Given the description of an element on the screen output the (x, y) to click on. 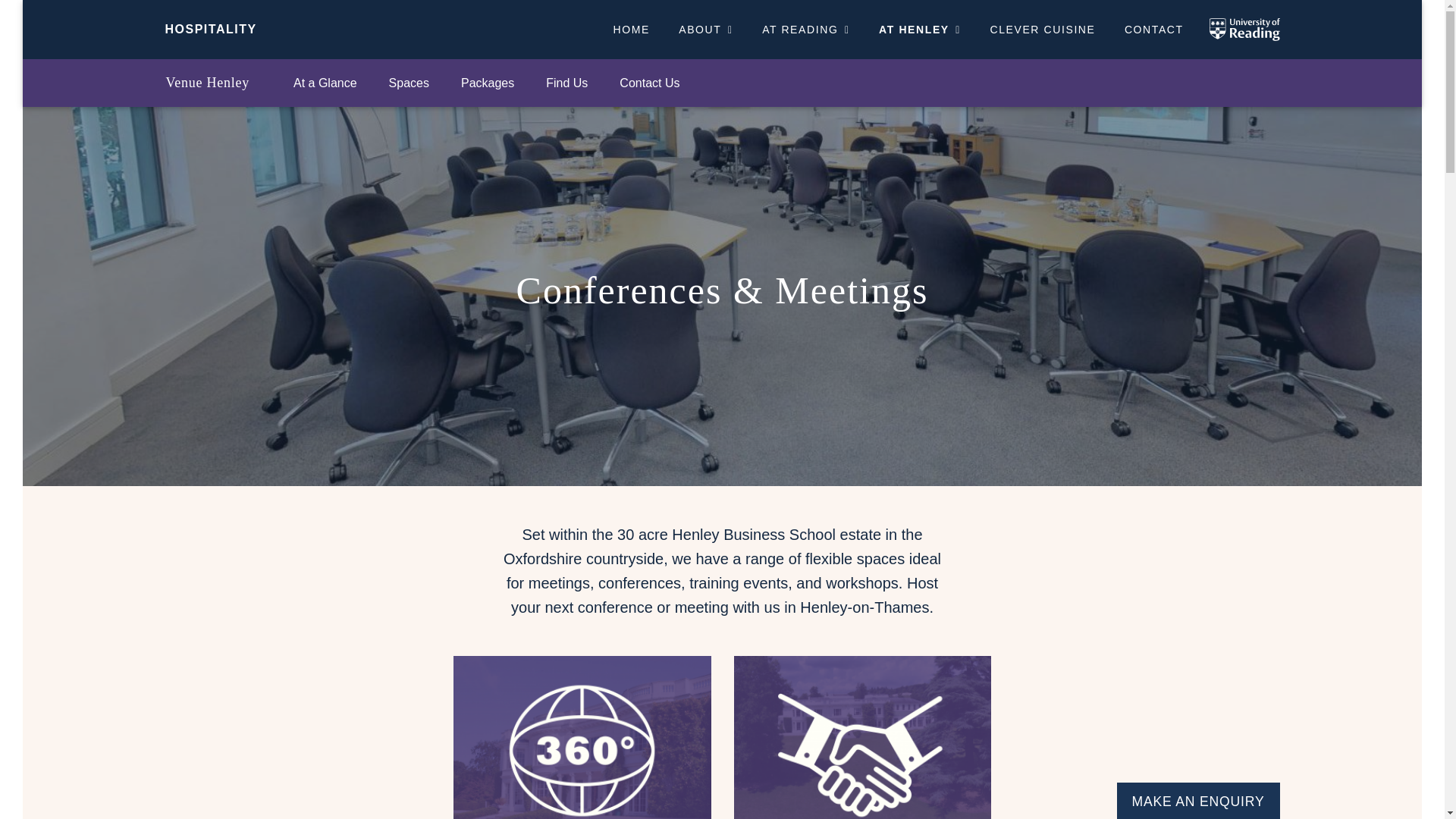
About (705, 29)
AT HENLEY (919, 29)
ABOUT (705, 29)
CONTACT (1153, 29)
AT READING (806, 29)
At Reading (806, 29)
Find Us (566, 82)
Home (630, 29)
Hospitality (211, 29)
At a Glance (325, 82)
Packages (487, 82)
HOME (630, 29)
CLEVER CUISINE (1042, 29)
Spaces (408, 82)
HOSPITALITY (211, 29)
